Given the description of an element on the screen output the (x, y) to click on. 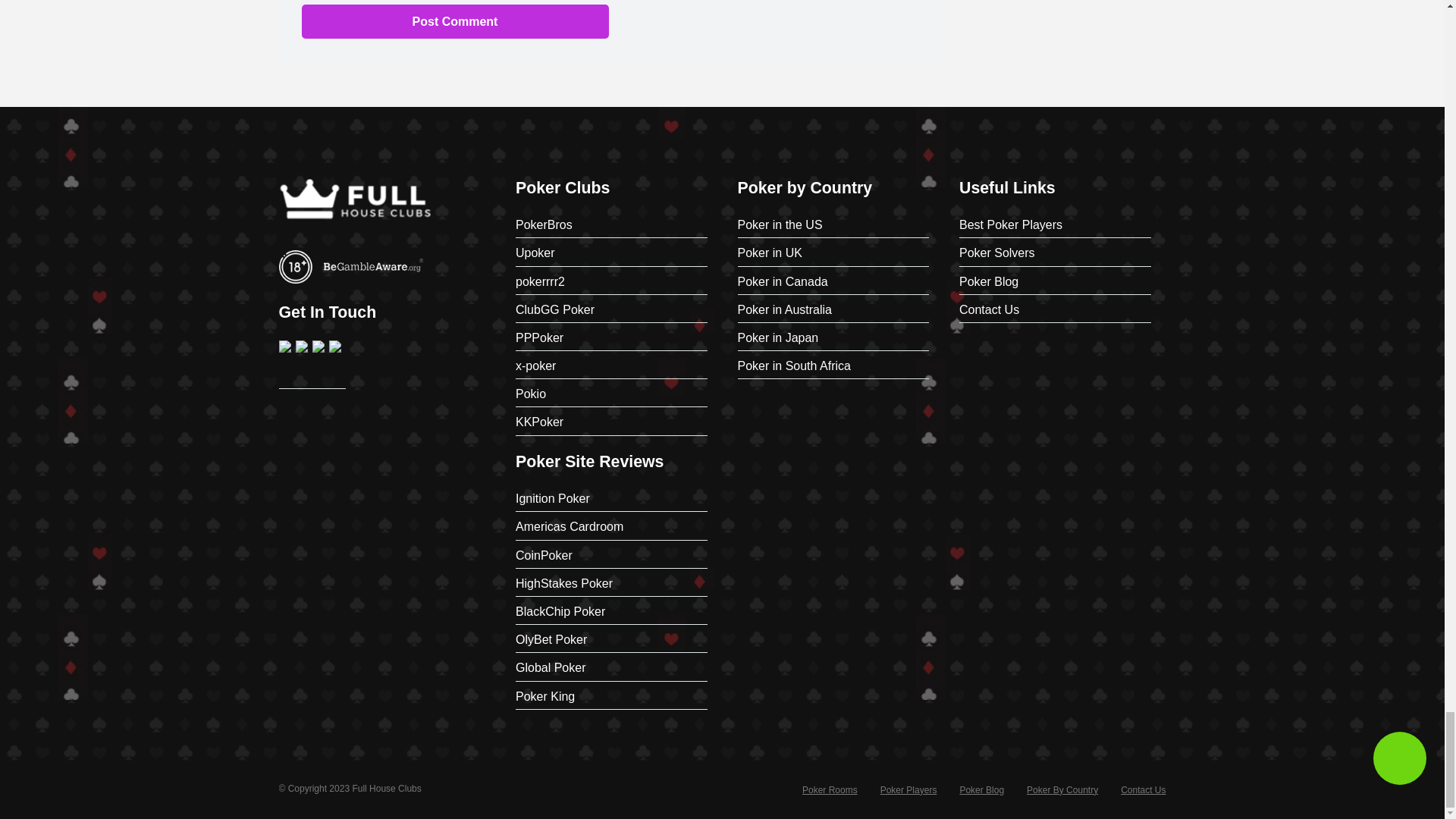
Post Comment (454, 21)
